Given the description of an element on the screen output the (x, y) to click on. 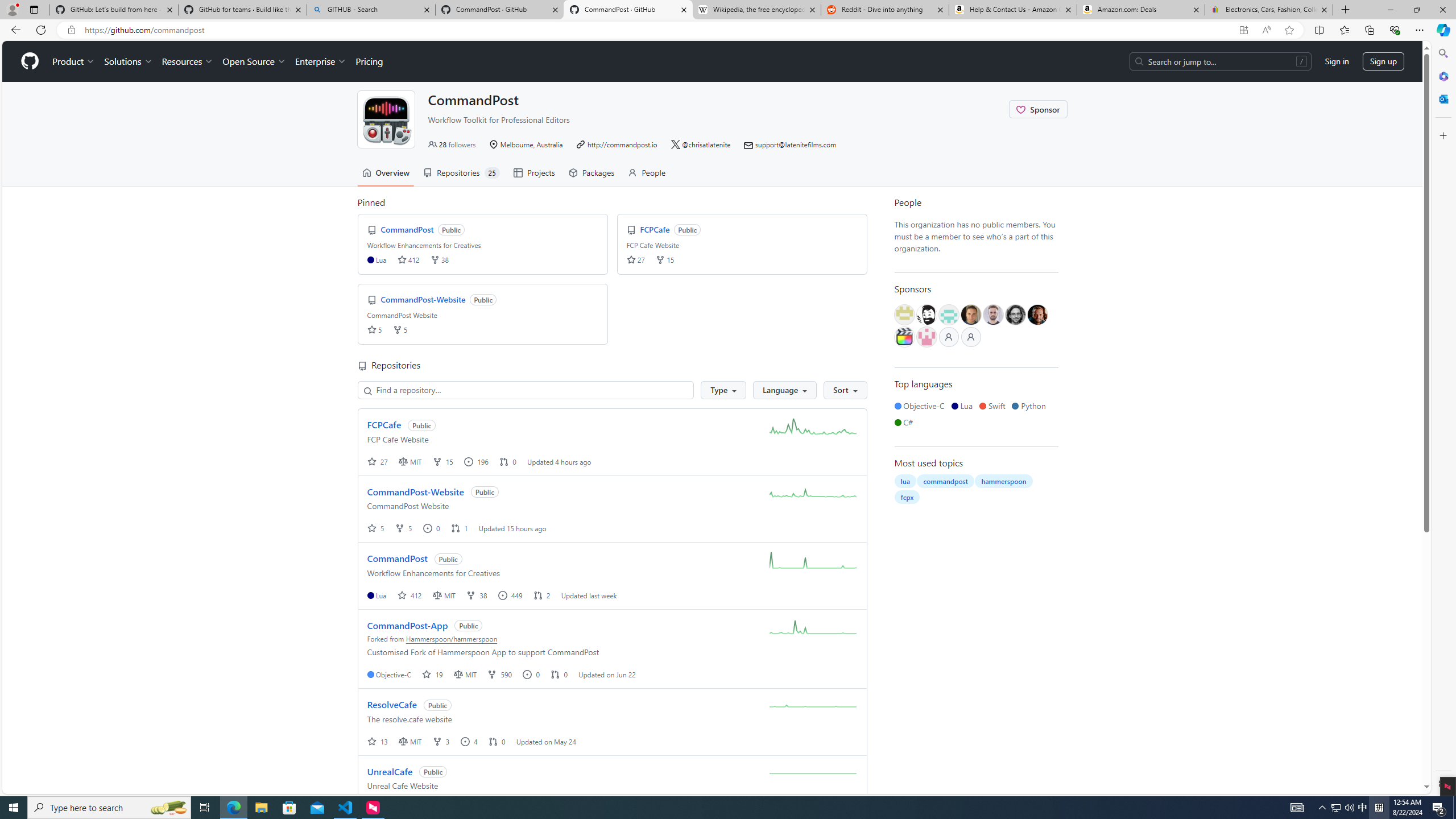
Sort (845, 389)
@MarcosCastiel (949, 314)
Language (784, 389)
ResolveCafe (391, 704)
Overview (385, 172)
People (647, 172)
UnrealCafe (389, 771)
Packages (590, 172)
@thermidorthelobster (925, 336)
CommandPost-WebsitePublicCommandPost Website 5 5 (482, 314)
 13  (378, 741)
fork (437, 741)
